Given the description of an element on the screen output the (x, y) to click on. 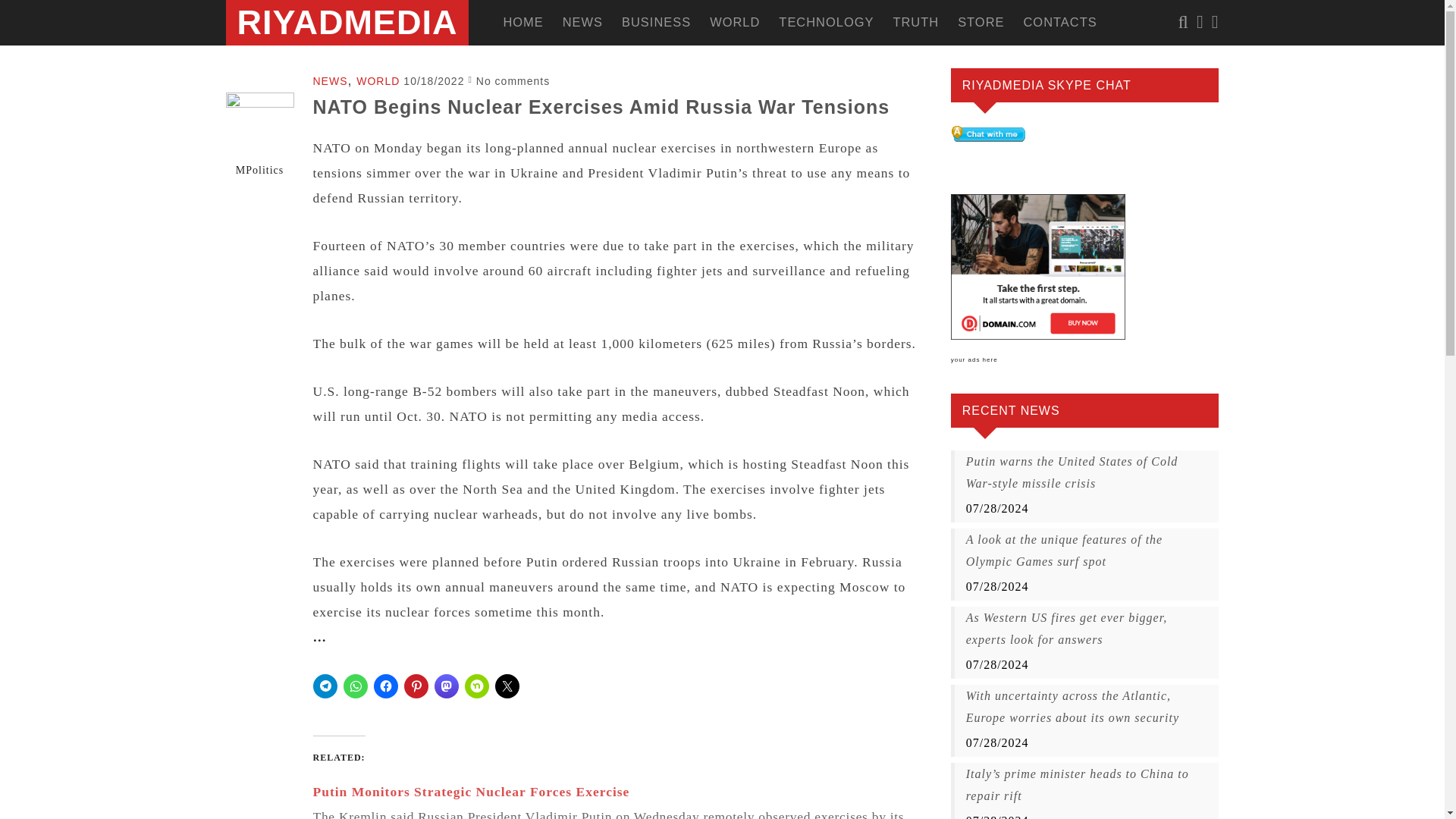
Click to share on WhatsApp (354, 686)
BUSINESS (646, 22)
WORLD (725, 22)
Putin Monitors Strategic Nuclear Forces Exercise (470, 791)
RIYADMEDIA (346, 22)
Click to share on Pinterest (415, 686)
Search (160, 11)
NEWS (330, 80)
WORLD (377, 80)
your ads here (973, 359)
MPolitics (259, 169)
Click to share on X (506, 686)
Click to share on Mastodon (445, 686)
No comments (513, 80)
facebook (1200, 22)
